Given the description of an element on the screen output the (x, y) to click on. 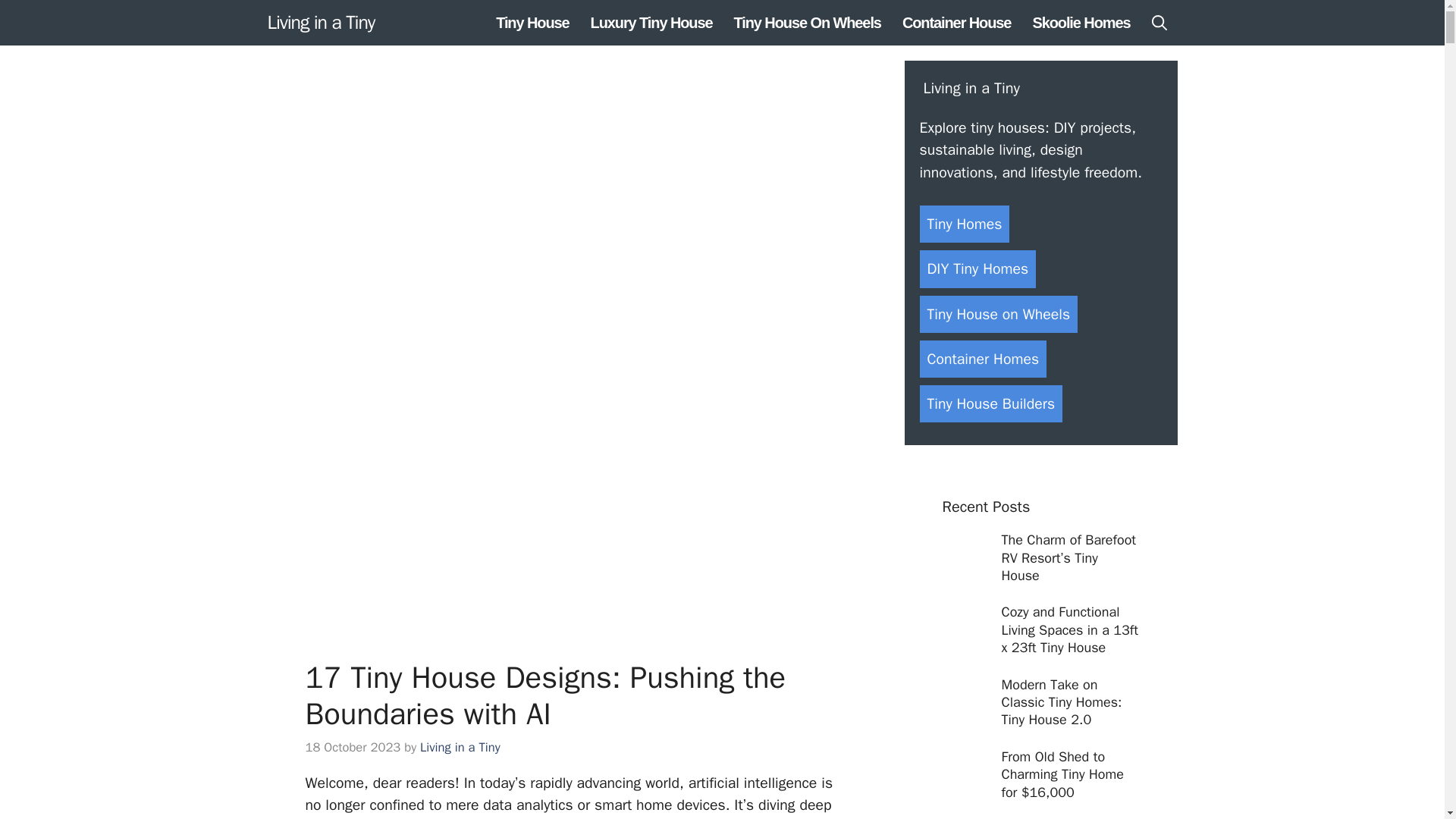
Container House (956, 22)
Living in a Tiny (320, 22)
Tiny House (531, 22)
Luxury Tiny House (651, 22)
View all posts by Living in a Tiny (460, 747)
Tiny House on Wheels (997, 313)
Skoolie Homes (1081, 22)
Tiny House Builders (990, 403)
Tiny Homes (963, 223)
Tiny House On Wheels (807, 22)
